Given the description of an element on the screen output the (x, y) to click on. 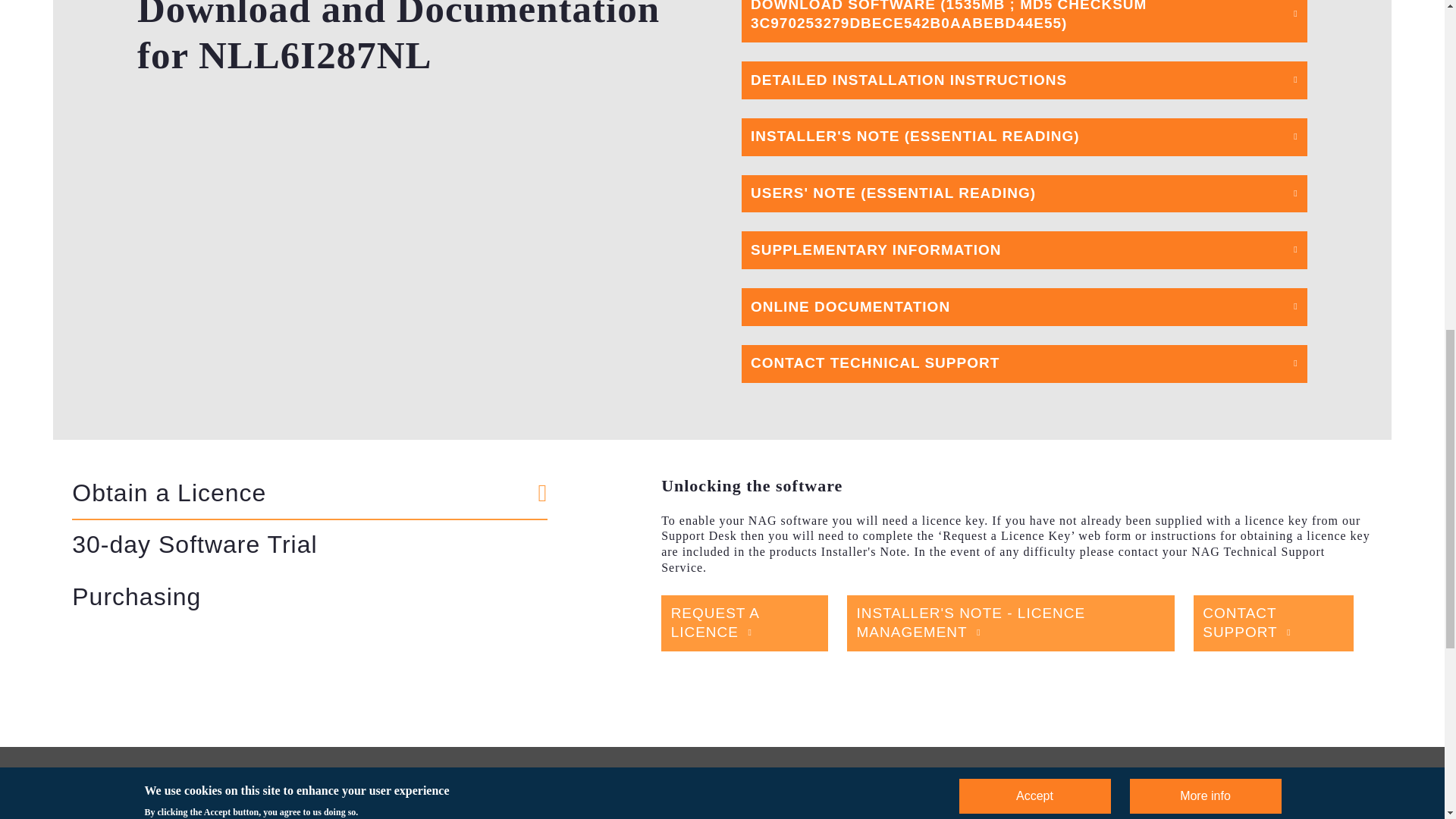
DETAILED INSTALLATION INSTRUCTIONS (1024, 80)
NAG Library (96, 814)
HPC (234, 814)
